Given the description of an element on the screen output the (x, y) to click on. 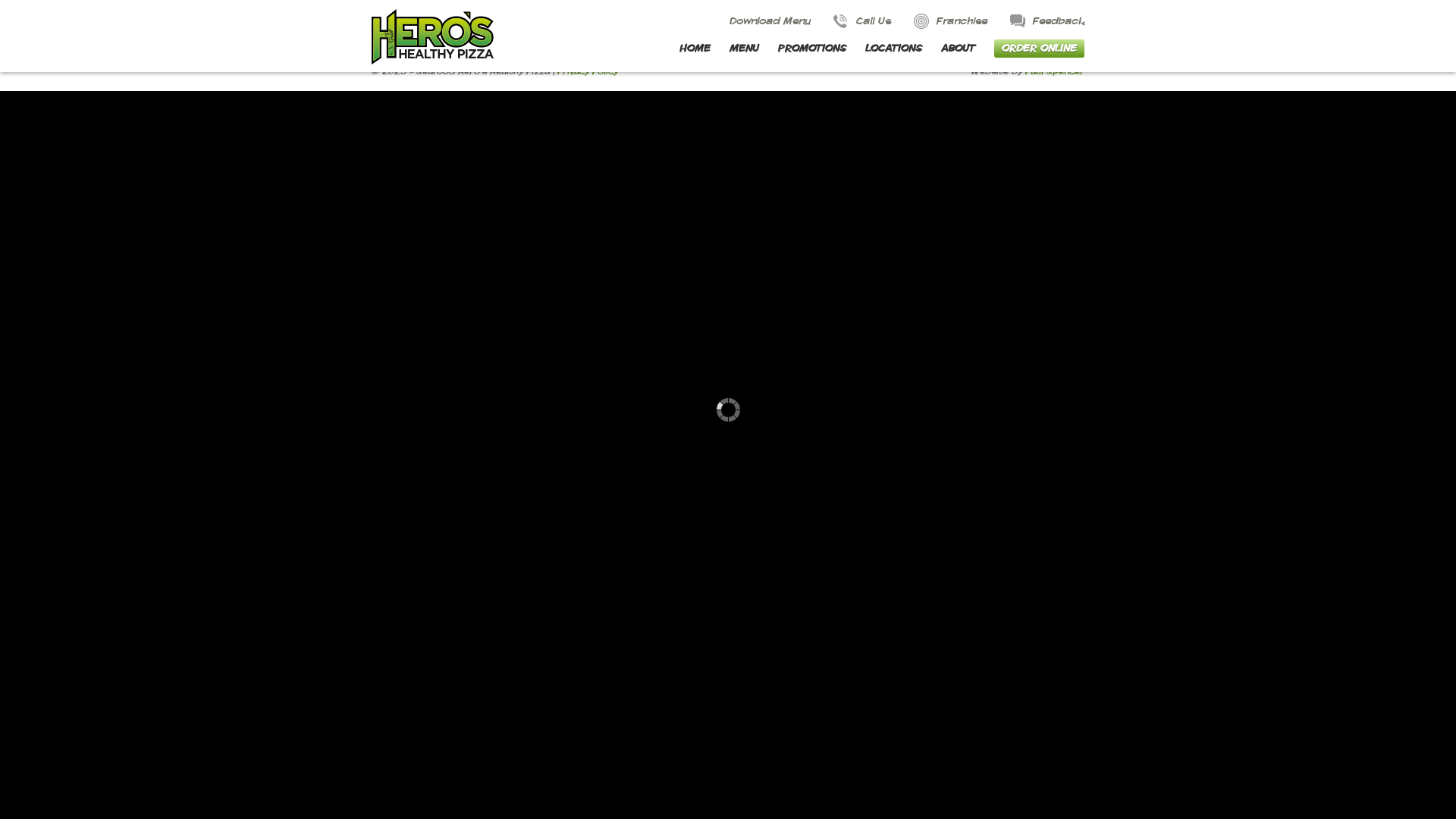
About Element type: text (400, 35)
Download Menu Element type: text (758, 21)
ABOUT Element type: text (958, 48)
Hero's Healthy Pizza Element type: text (432, 36)
Call Us Element type: text (862, 21)
Order Online Element type: text (551, 35)
Privacy Policy Element type: text (587, 70)
Menu Element type: text (534, 23)
Franchise Element type: text (950, 21)
PROMOTIONS Element type: text (812, 48)
ORDER ONLINE Element type: text (1039, 48)
Promotions Element type: text (685, 23)
Feedback Element type: text (1047, 21)
Paul Spencer Element type: text (1054, 70)
HOME Element type: text (694, 48)
Home Element type: text (398, 23)
LOCATIONS Element type: text (893, 48)
MENU Element type: text (744, 48)
Locations Element type: text (818, 23)
